Given the description of an element on the screen output the (x, y) to click on. 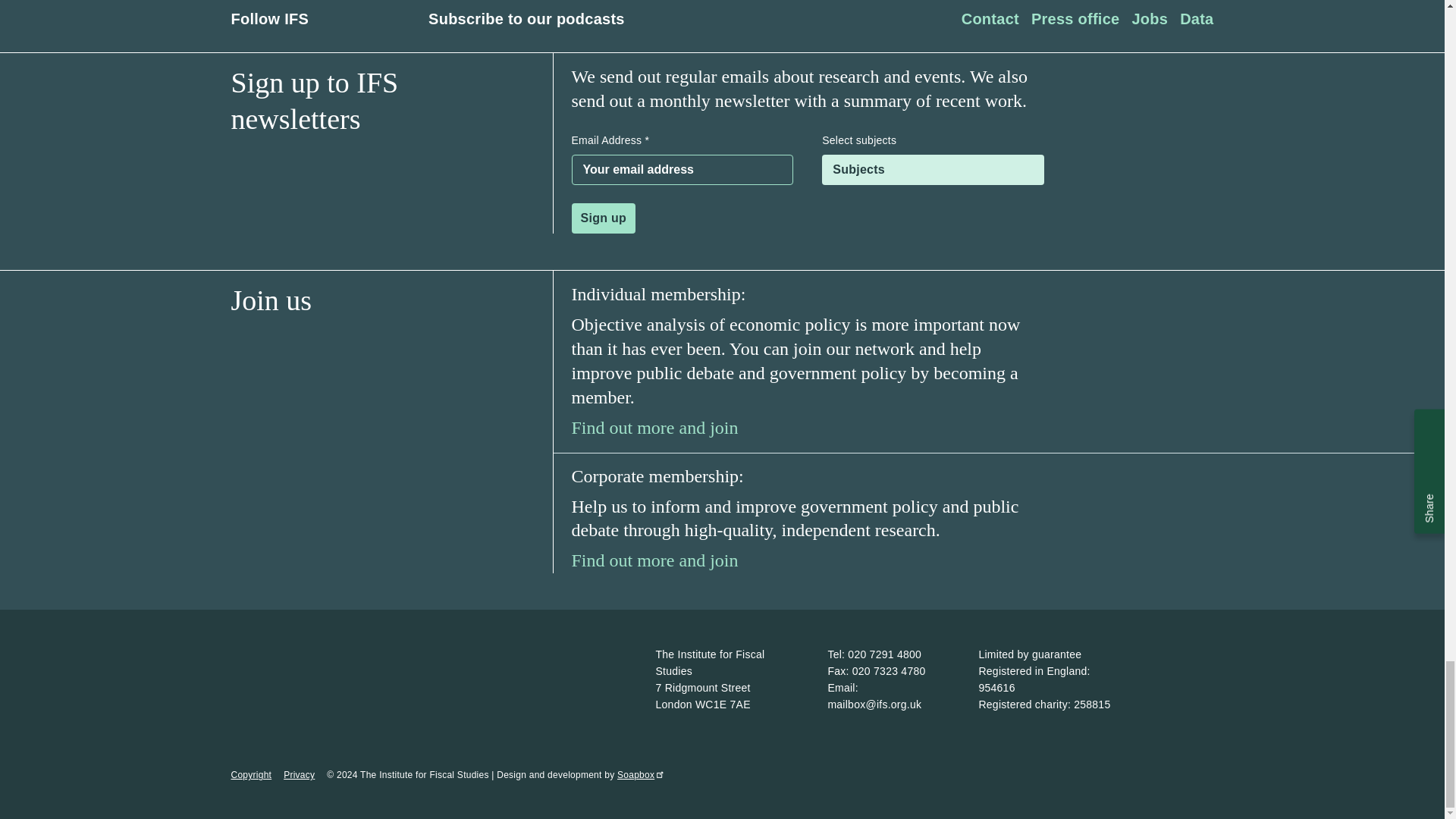
Visit the YouTube profile of IFS (391, 18)
Visit the Twitter profile of IFS (359, 19)
Visit the Facebook page of IFS (329, 18)
